Given the description of an element on the screen output the (x, y) to click on. 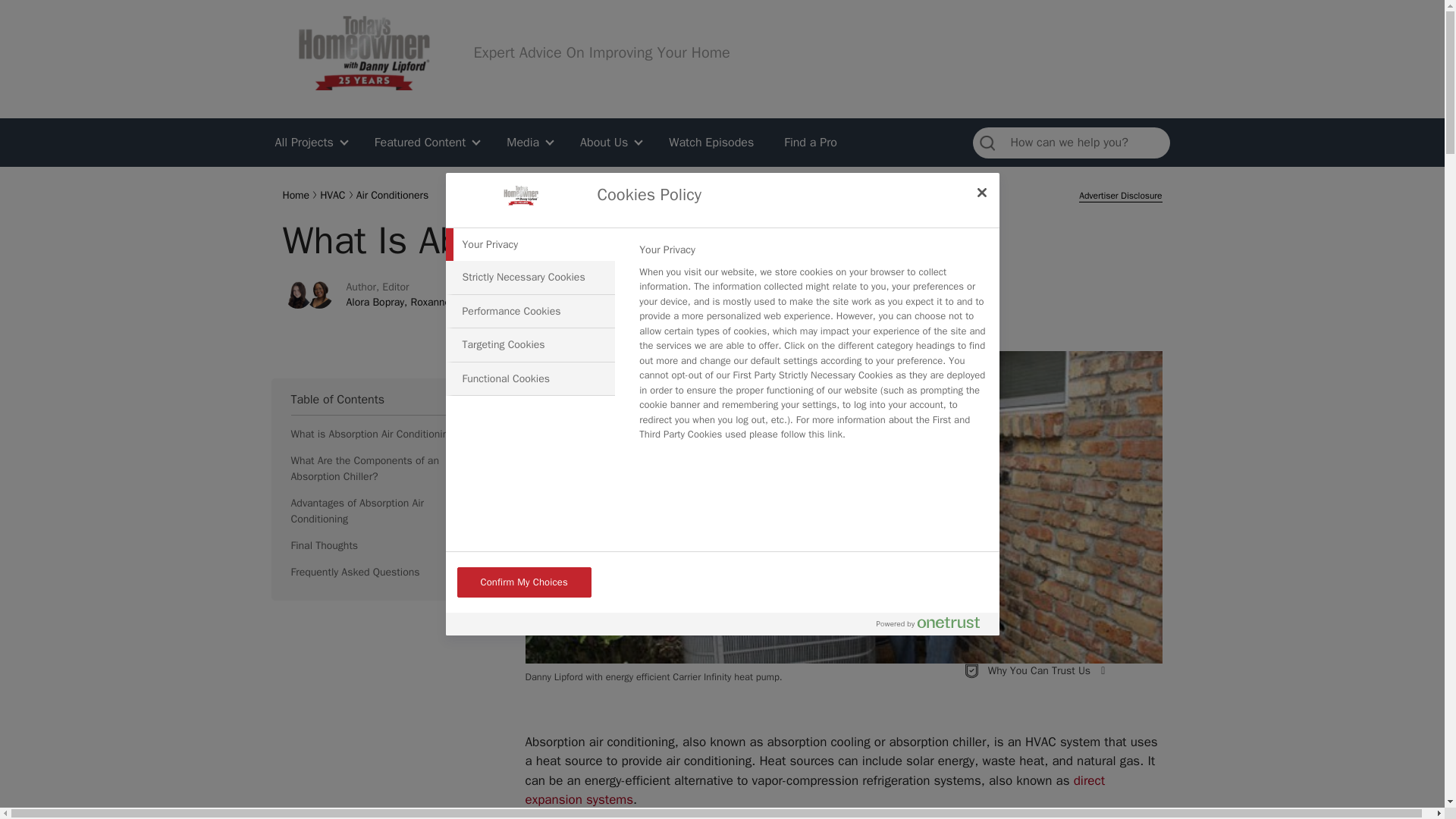
Powered by OneTrust Opens in a new Tab (927, 621)
All Projects (312, 142)
